Given the description of an element on the screen output the (x, y) to click on. 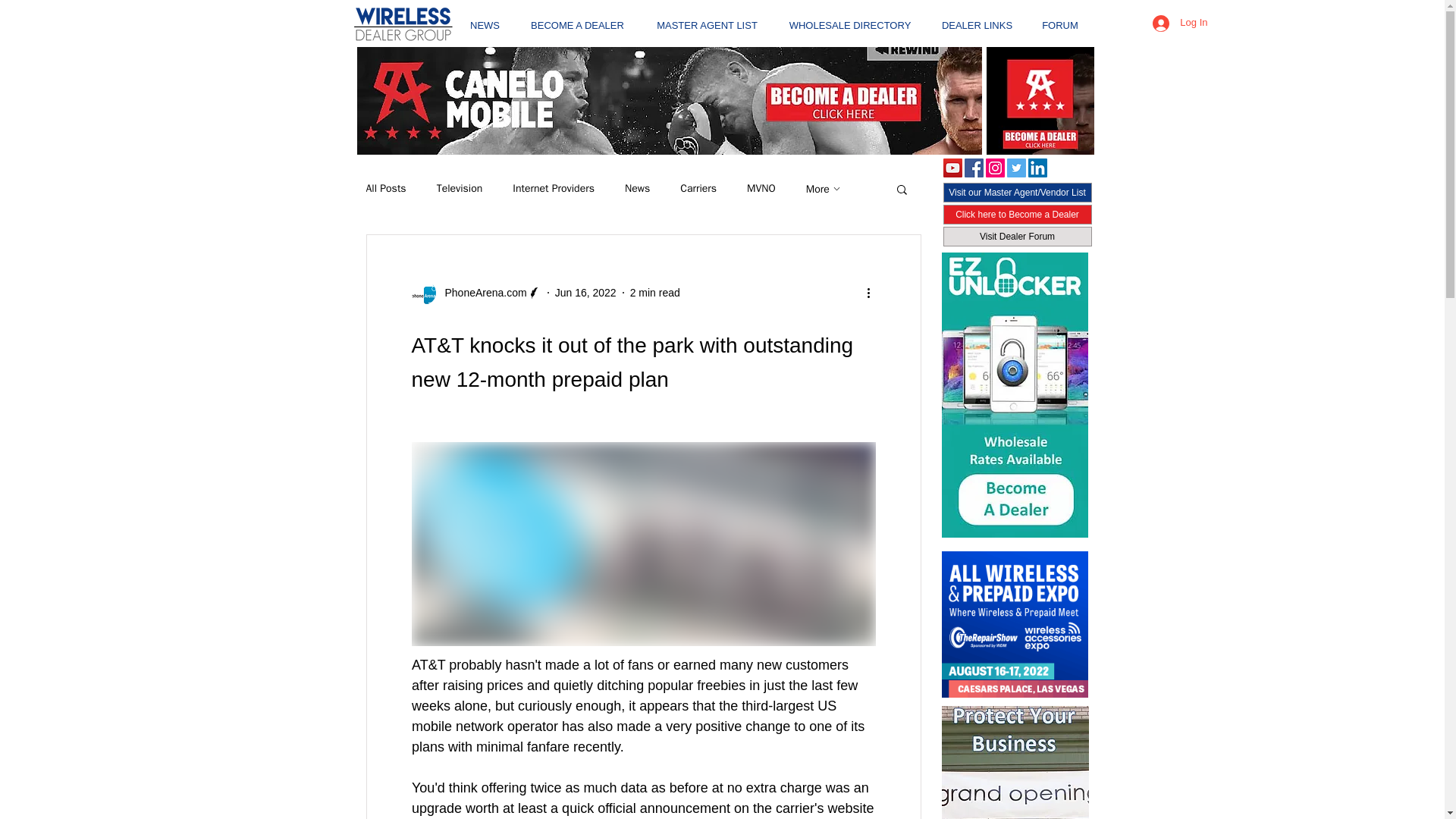
Jun 16, 2022 (584, 292)
BECOME A DEALER (576, 18)
All Posts (385, 188)
Internet Providers (553, 188)
FORUM (1060, 18)
PhoneArena.com (480, 293)
MASTER AGENT LIST (706, 18)
Log In (1179, 23)
DEALER LINKS (976, 18)
Carriers (697, 188)
